Given the description of an element on the screen output the (x, y) to click on. 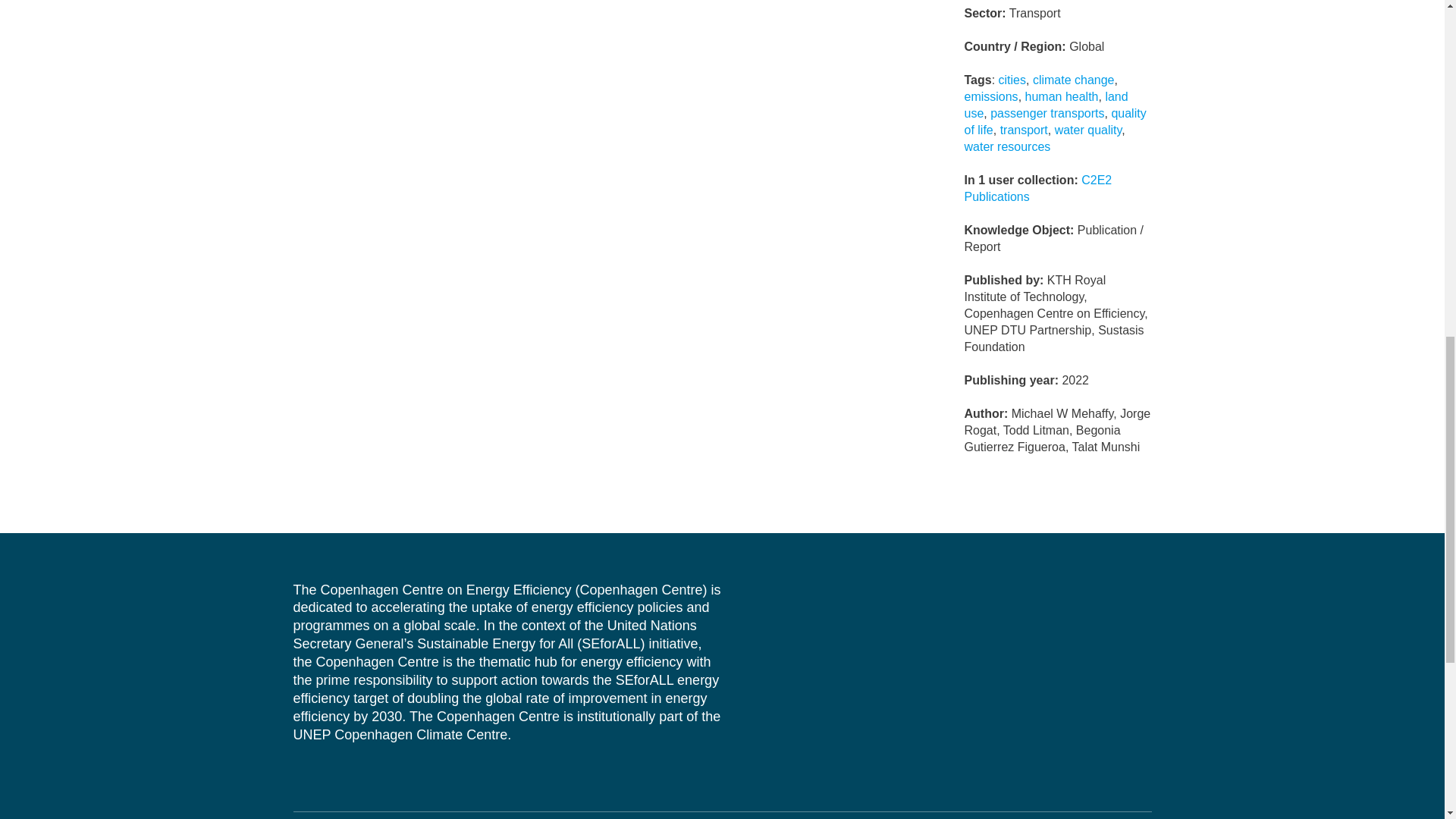
quality of life (1054, 120)
water quality (1088, 128)
emissions (990, 95)
climate change (1073, 78)
passenger transports (1046, 112)
C2E2 Publications (1037, 187)
land use (1044, 103)
cities (1012, 78)
water resources (1006, 145)
transport (1024, 128)
